Given the description of an element on the screen output the (x, y) to click on. 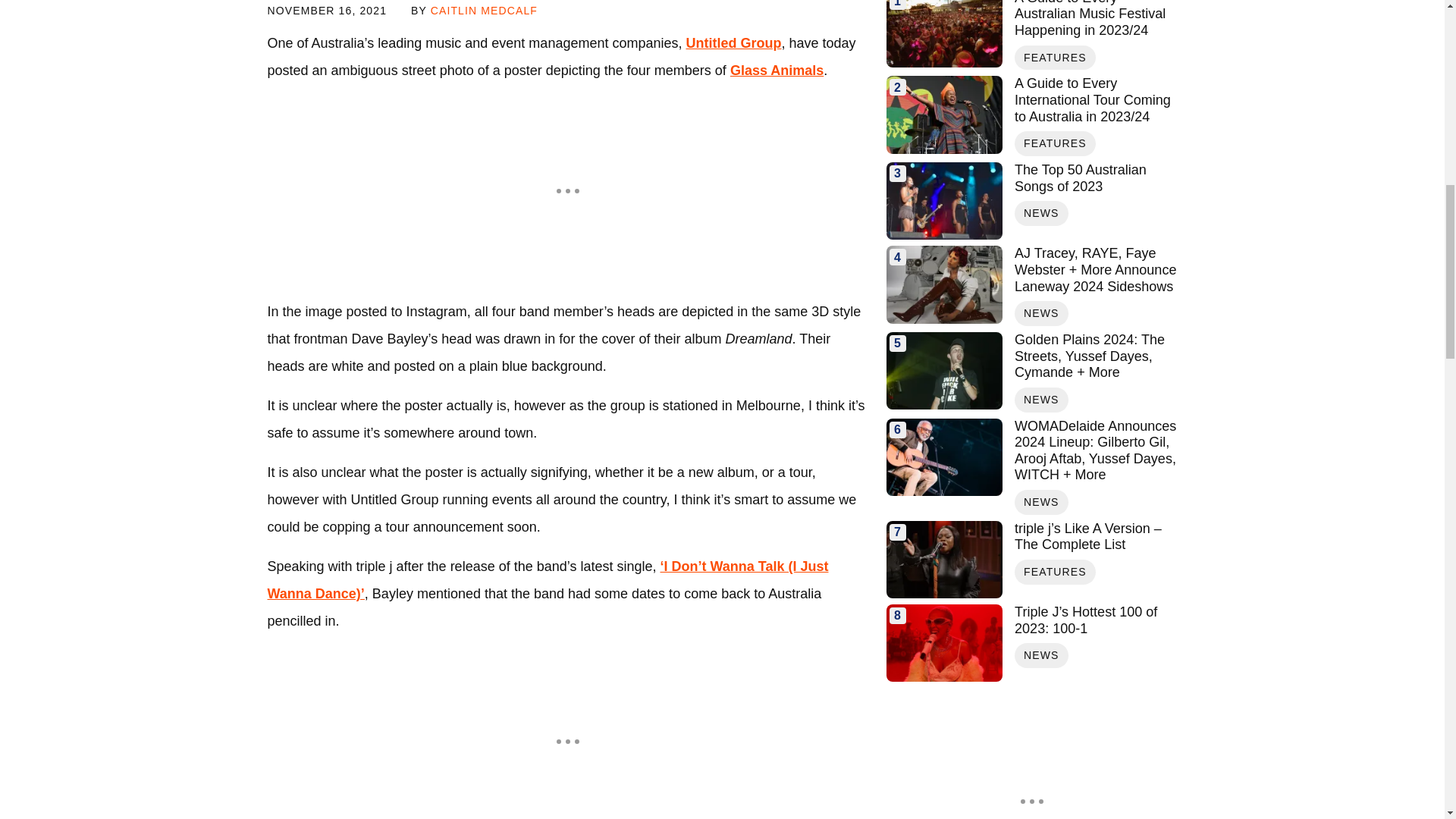
The Top 50 Australian Songs of 2023 (944, 200)
CAITLIN MEDCALF (483, 10)
Glass Animals (777, 70)
Untitled Group (732, 43)
The Top 50 Australian Songs of 2023 (1095, 178)
